Given the description of an element on the screen output the (x, y) to click on. 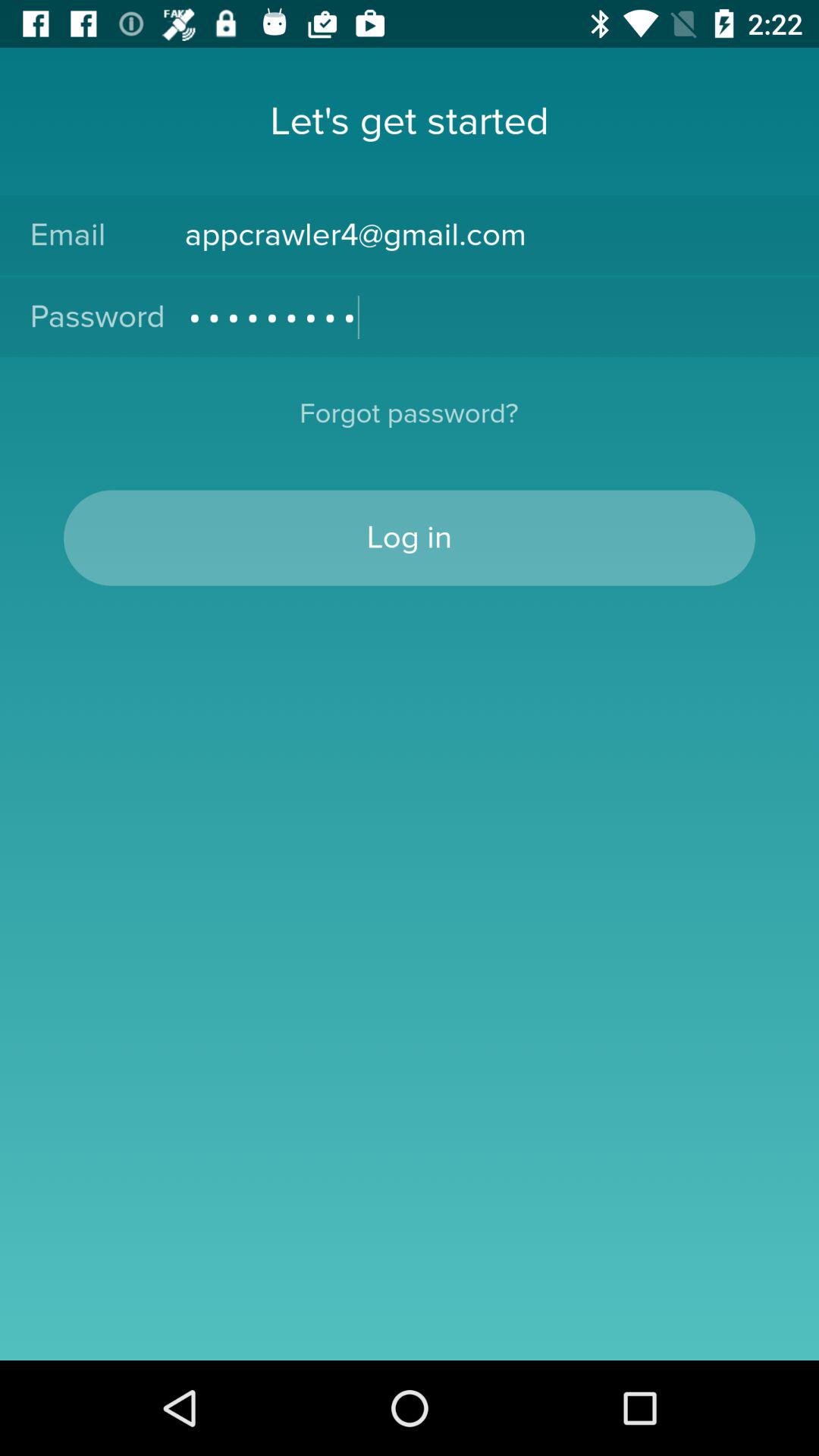
turn off the icon to the right of the email (486, 235)
